Given the description of an element on the screen output the (x, y) to click on. 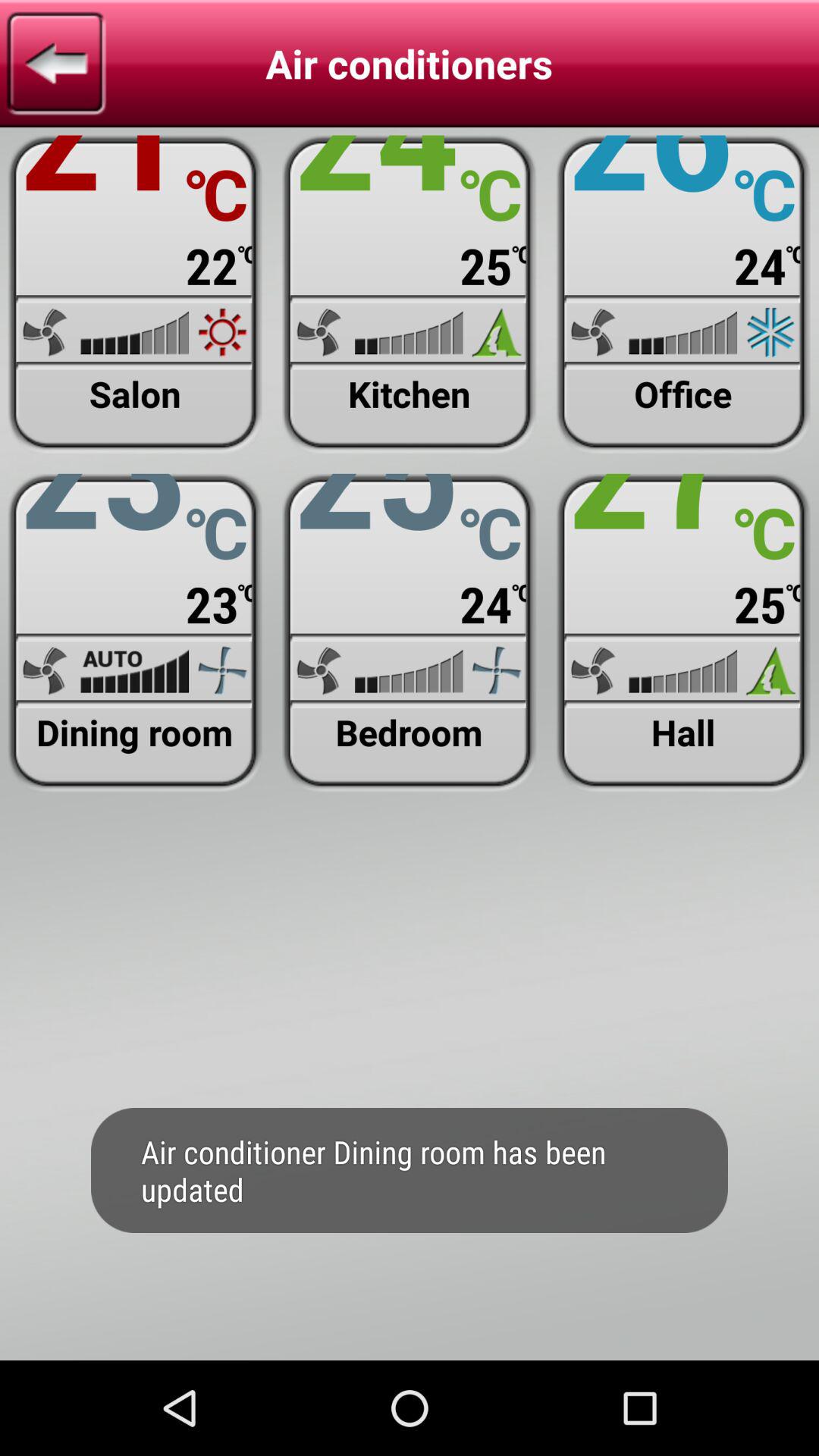
select dining room (134, 632)
